Given the description of an element on the screen output the (x, y) to click on. 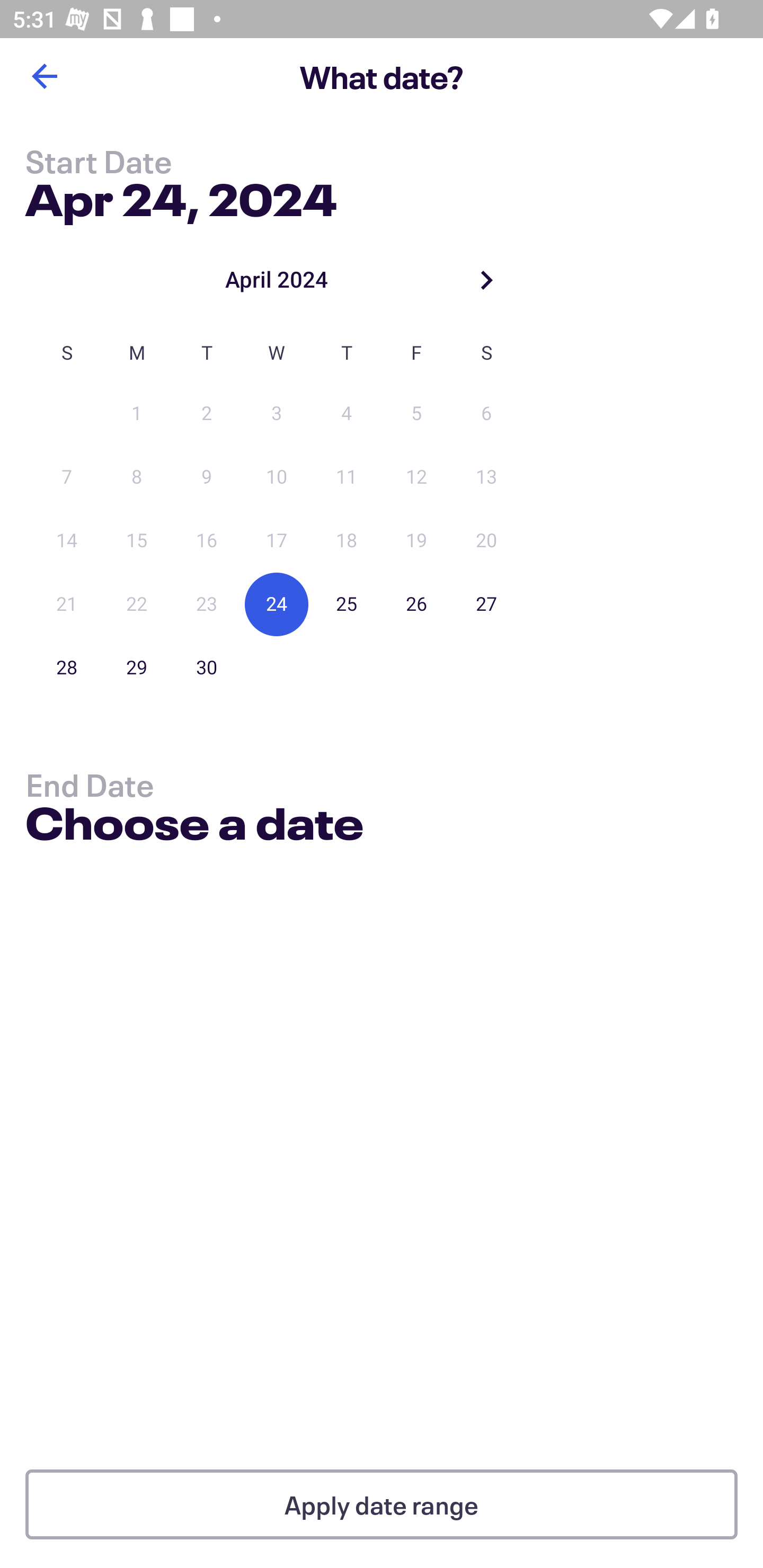
Back button (44, 75)
Apr 24, 2024 (181, 195)
Next month (486, 279)
1 01 April 2024 (136, 413)
2 02 April 2024 (206, 413)
3 03 April 2024 (276, 413)
4 04 April 2024 (346, 413)
5 05 April 2024 (416, 413)
6 06 April 2024 (486, 413)
7 07 April 2024 (66, 477)
8 08 April 2024 (136, 477)
9 09 April 2024 (206, 477)
10 10 April 2024 (276, 477)
11 11 April 2024 (346, 477)
12 12 April 2024 (416, 477)
13 13 April 2024 (486, 477)
14 14 April 2024 (66, 540)
15 15 April 2024 (136, 540)
16 16 April 2024 (206, 540)
17 17 April 2024 (276, 540)
18 18 April 2024 (346, 540)
19 19 April 2024 (416, 540)
20 20 April 2024 (486, 540)
21 21 April 2024 (66, 604)
22 22 April 2024 (136, 604)
23 23 April 2024 (206, 604)
24 24 April 2024 (276, 604)
25 25 April 2024 (346, 604)
26 26 April 2024 (416, 604)
27 27 April 2024 (486, 604)
28 28 April 2024 (66, 667)
29 29 April 2024 (136, 667)
30 30 April 2024 (206, 667)
Choose a date (194, 826)
Apply date range (381, 1504)
